Given the description of an element on the screen output the (x, y) to click on. 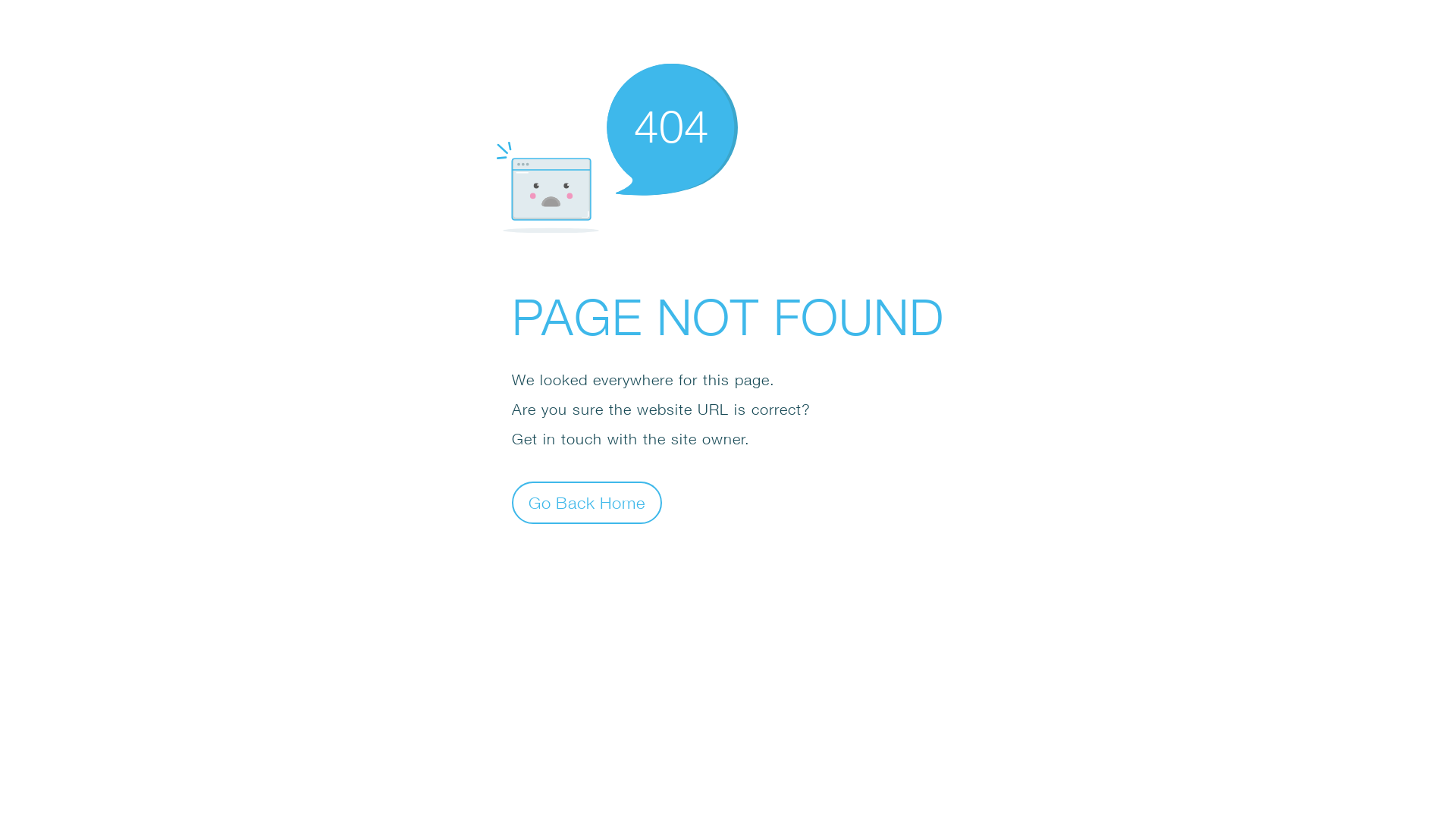
Go Back Home Element type: text (586, 502)
